Given the description of an element on the screen output the (x, y) to click on. 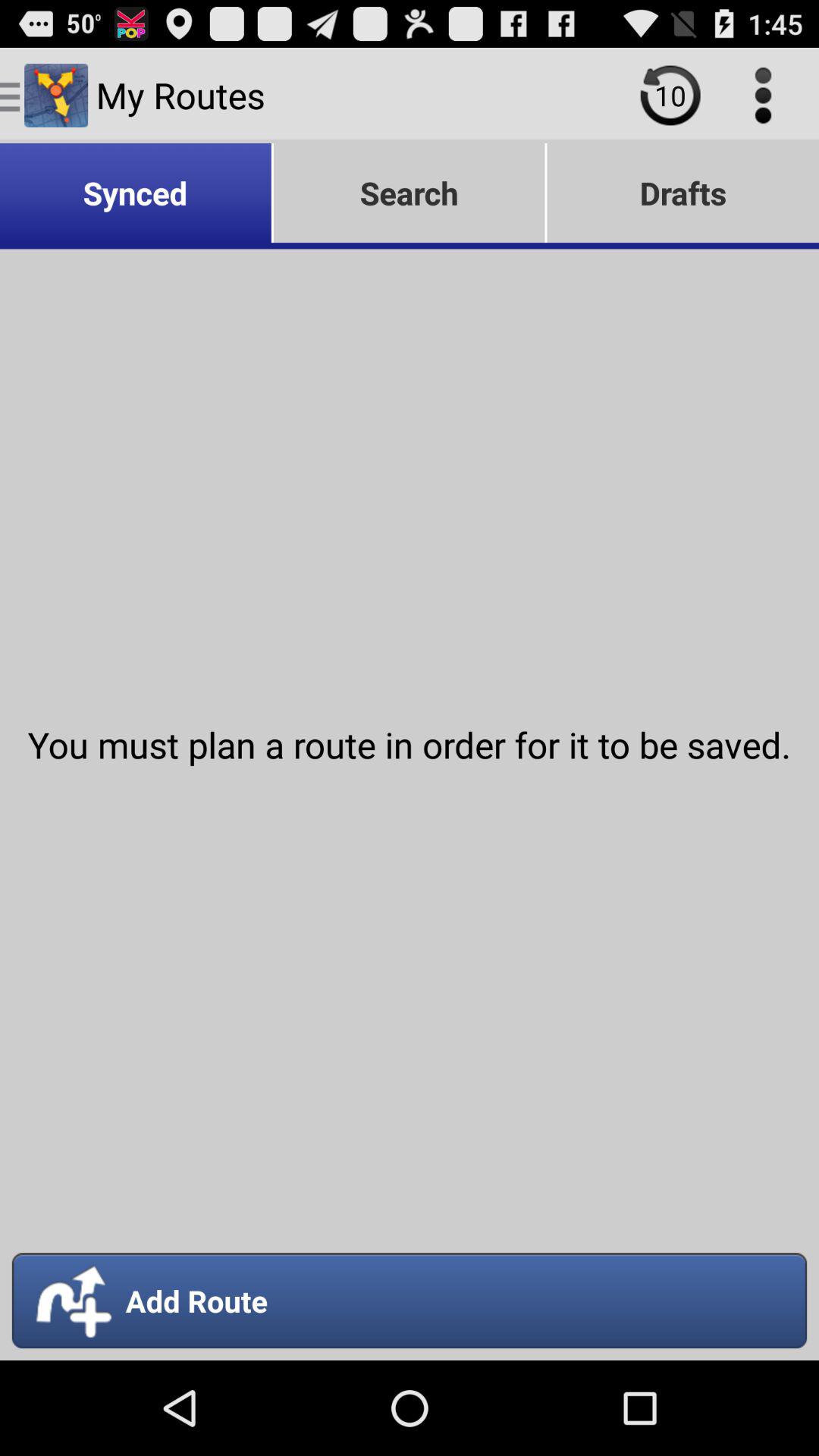
press icon above the drafts icon (670, 95)
